Given the description of an element on the screen output the (x, y) to click on. 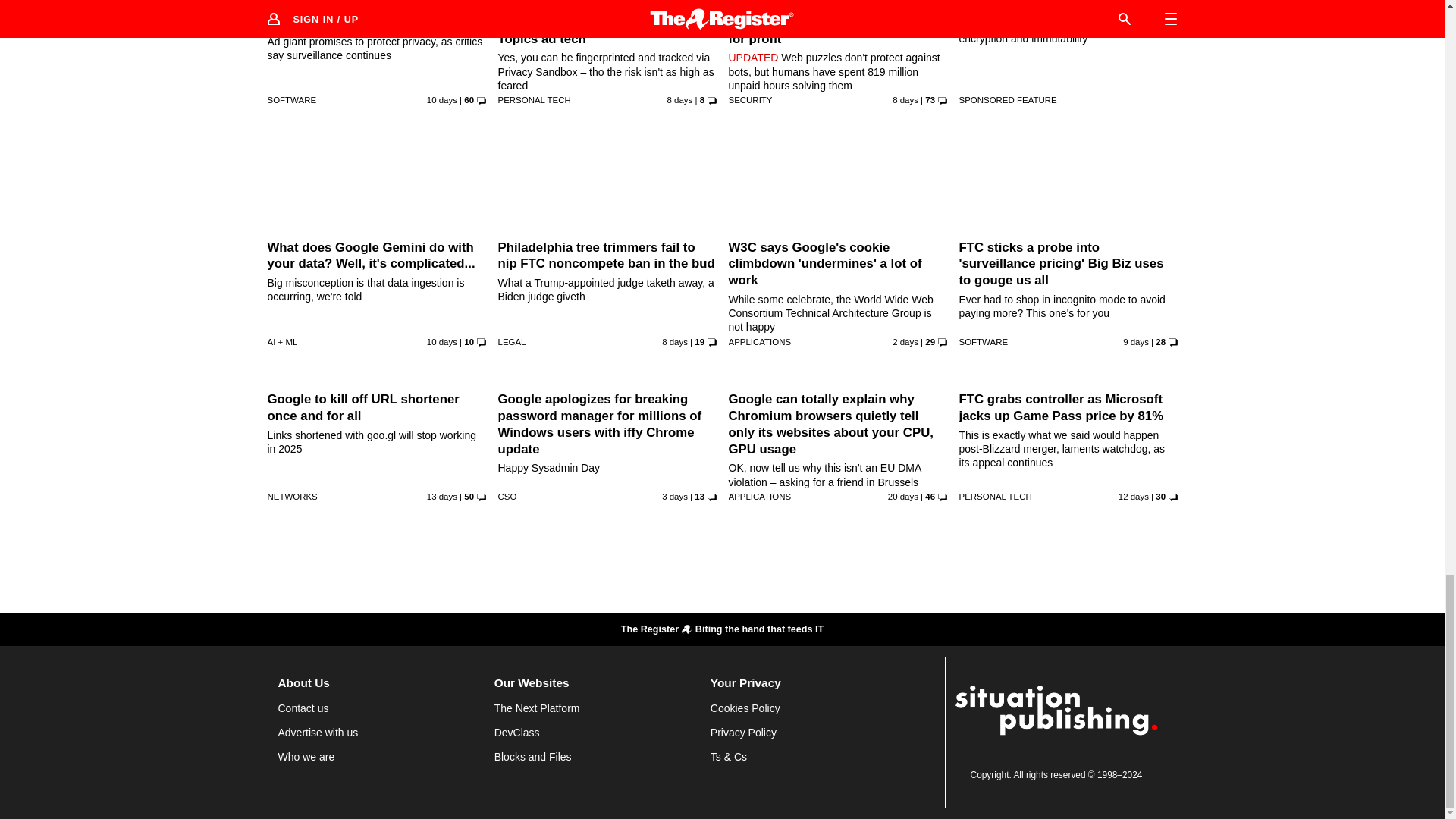
24 Jul 2024 6:33 (905, 99)
30 Jul 2024 13:2 (905, 341)
23 Jul 2024 18:26 (1135, 341)
23 Jul 2024 0:3 (441, 99)
24 Jul 2024 18:1 (674, 341)
24 Jul 2024 20:44 (679, 99)
22 Jul 2024 19:15 (441, 341)
